Given the description of an element on the screen output the (x, y) to click on. 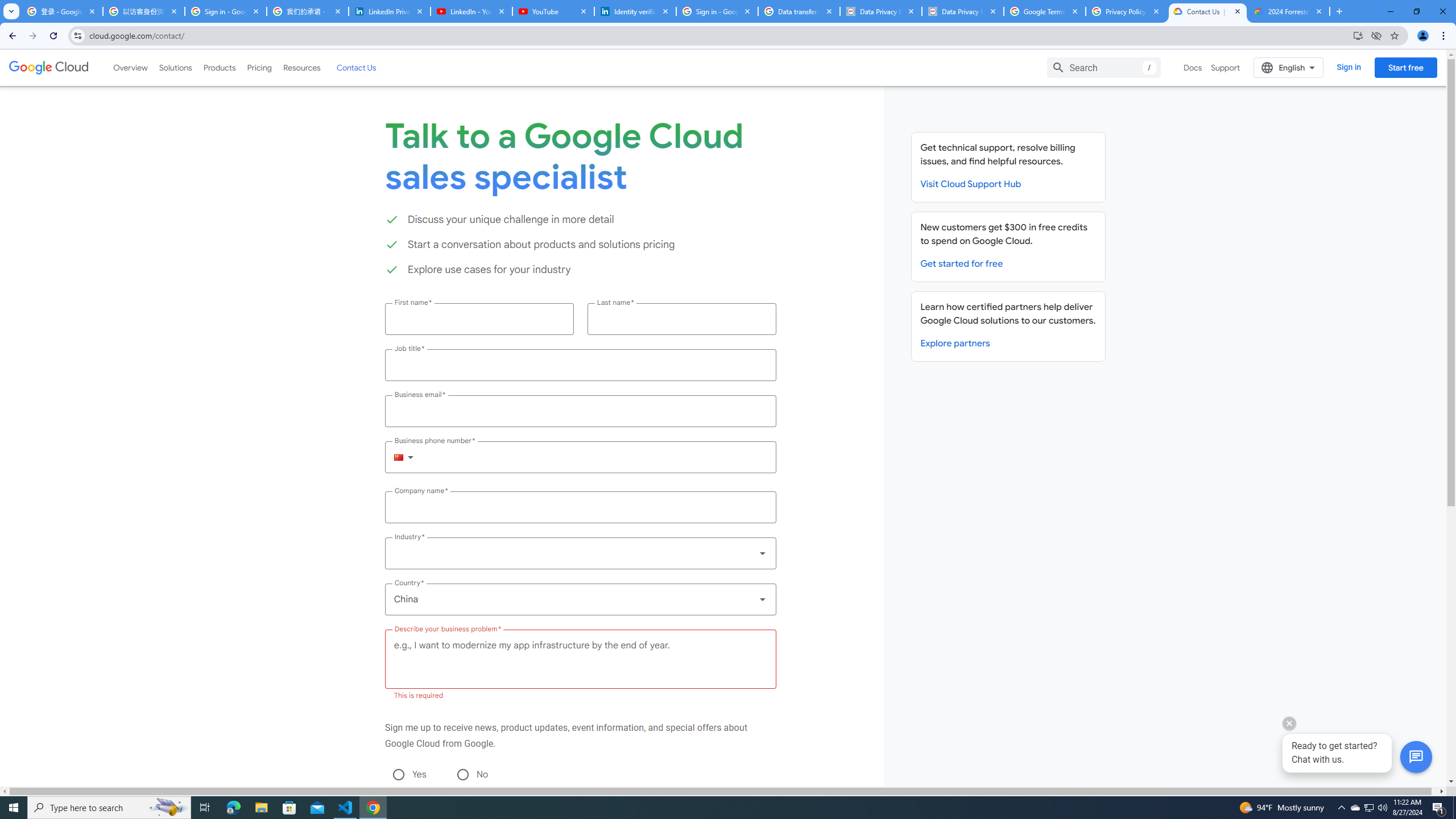
Resources (301, 67)
